Given the description of an element on the screen output the (x, y) to click on. 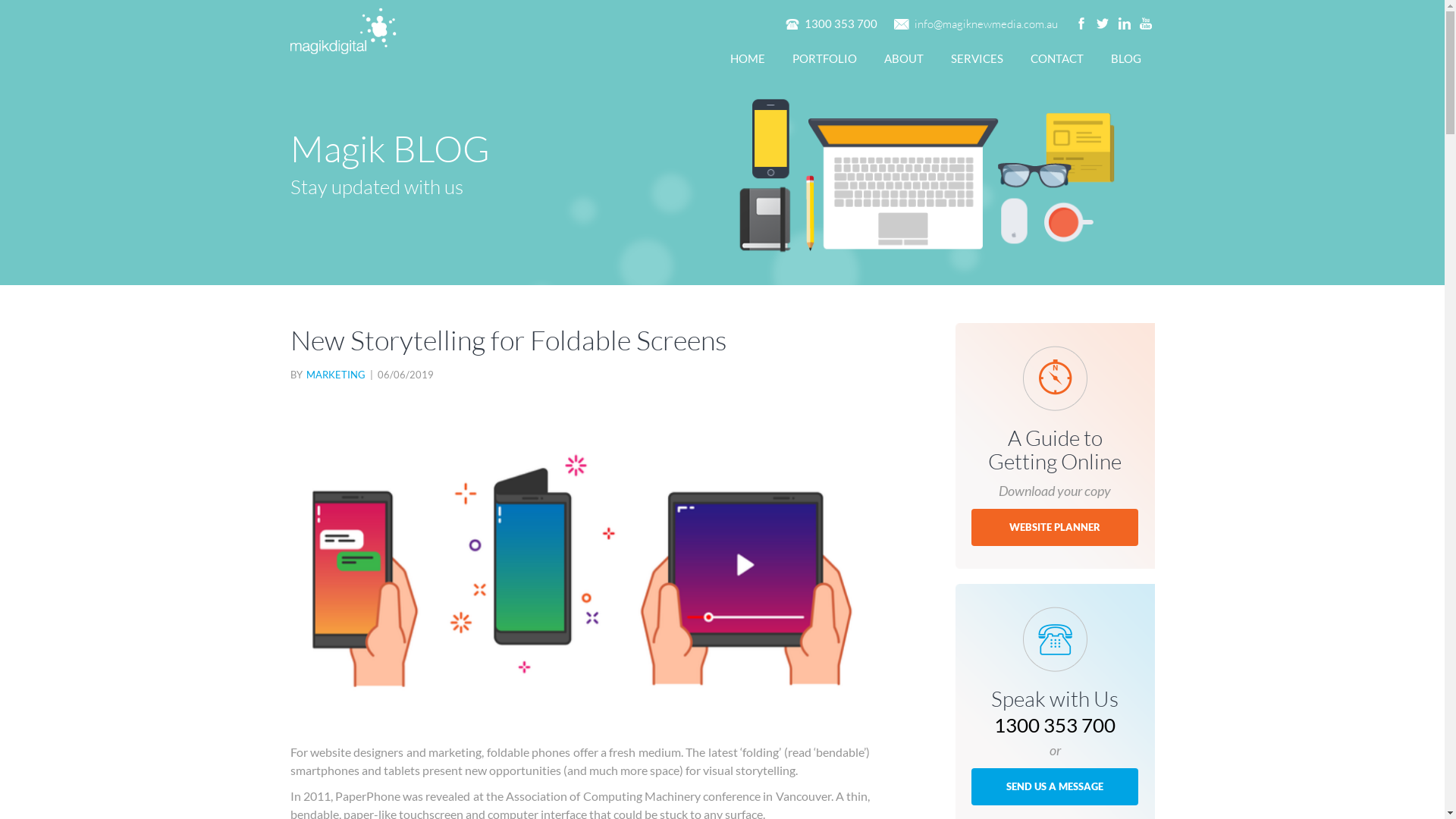
SEND US A MESSAGE Element type: text (1054, 787)
ABOUT Element type: text (903, 58)
HOME Element type: text (746, 58)
SERVICES Element type: text (976, 58)
BLOG Element type: text (1125, 58)
CONTACT Element type: text (1055, 58)
WEBSITE PLANNER Element type: text (1054, 527)
PORTFOLIO Element type: text (823, 58)
